Given the description of an element on the screen output the (x, y) to click on. 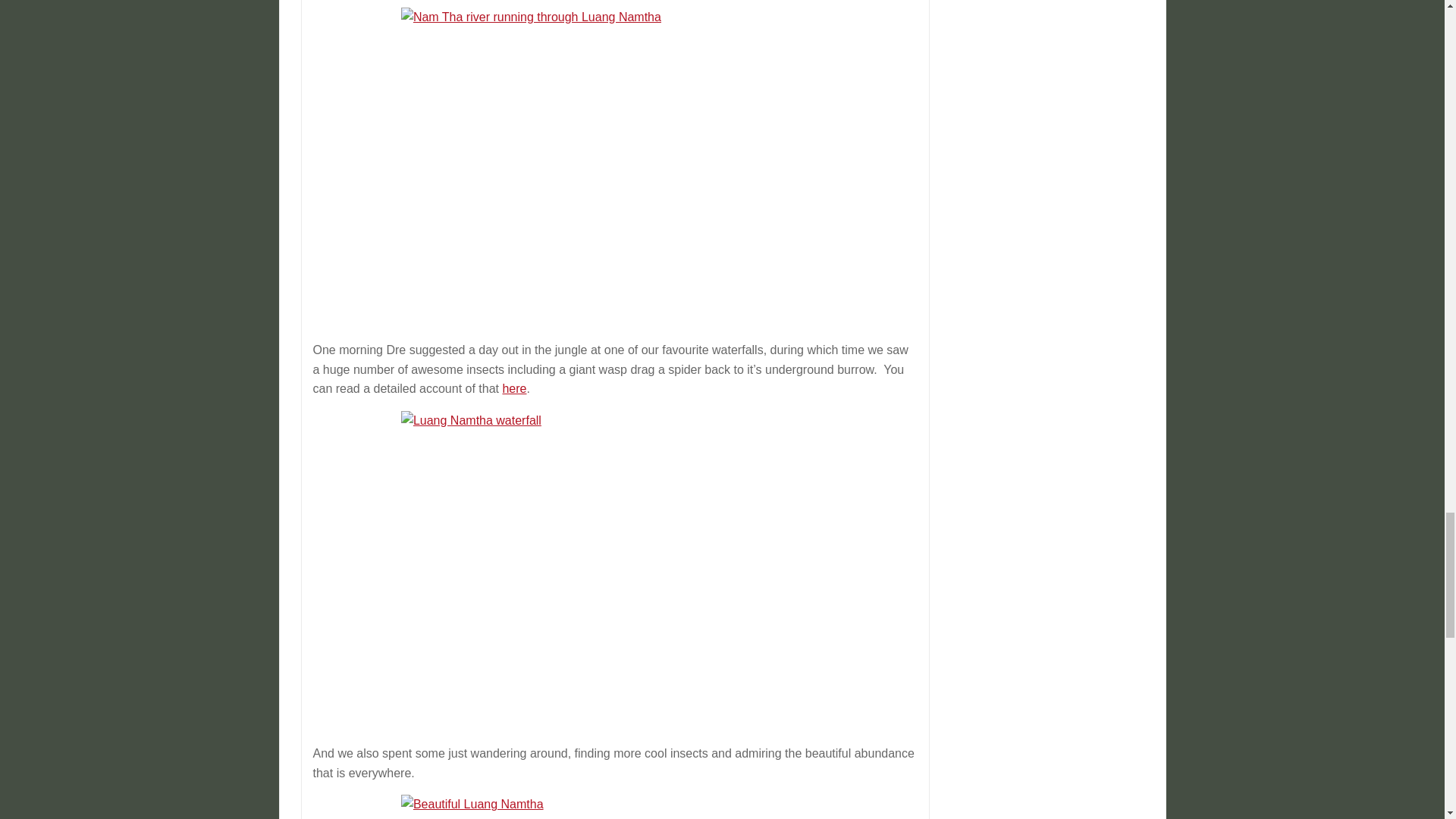
Monks riding past us, rice in front, jungle behind (615, 806)
Waterfall Adventure - Living our Dream (513, 388)
here (513, 388)
